Given the description of an element on the screen output the (x, y) to click on. 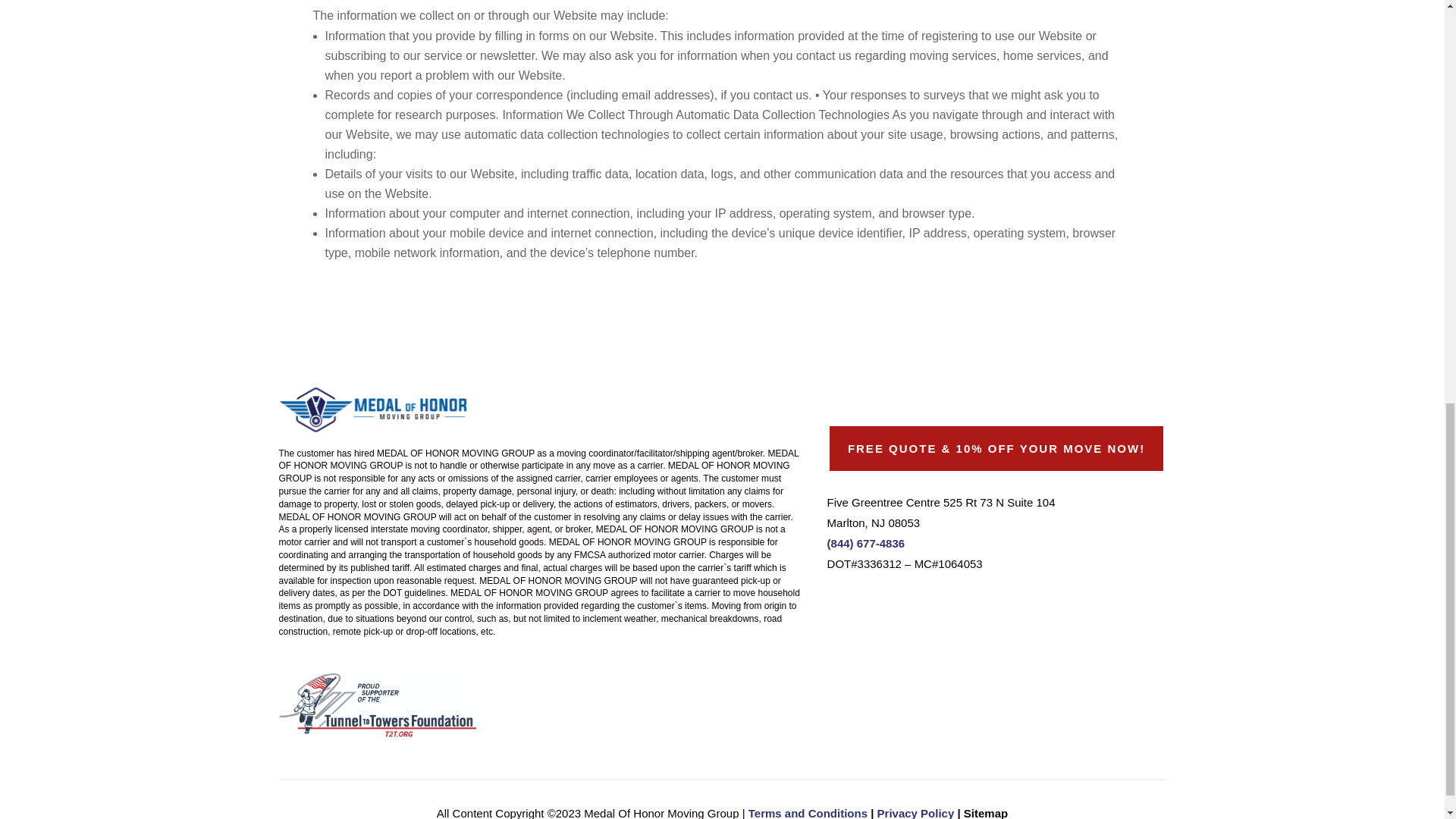
Copy-of-Macks-Movers-5 (373, 407)
Terms and Conditions (807, 812)
Privacy Policy (916, 812)
